Given the description of an element on the screen output the (x, y) to click on. 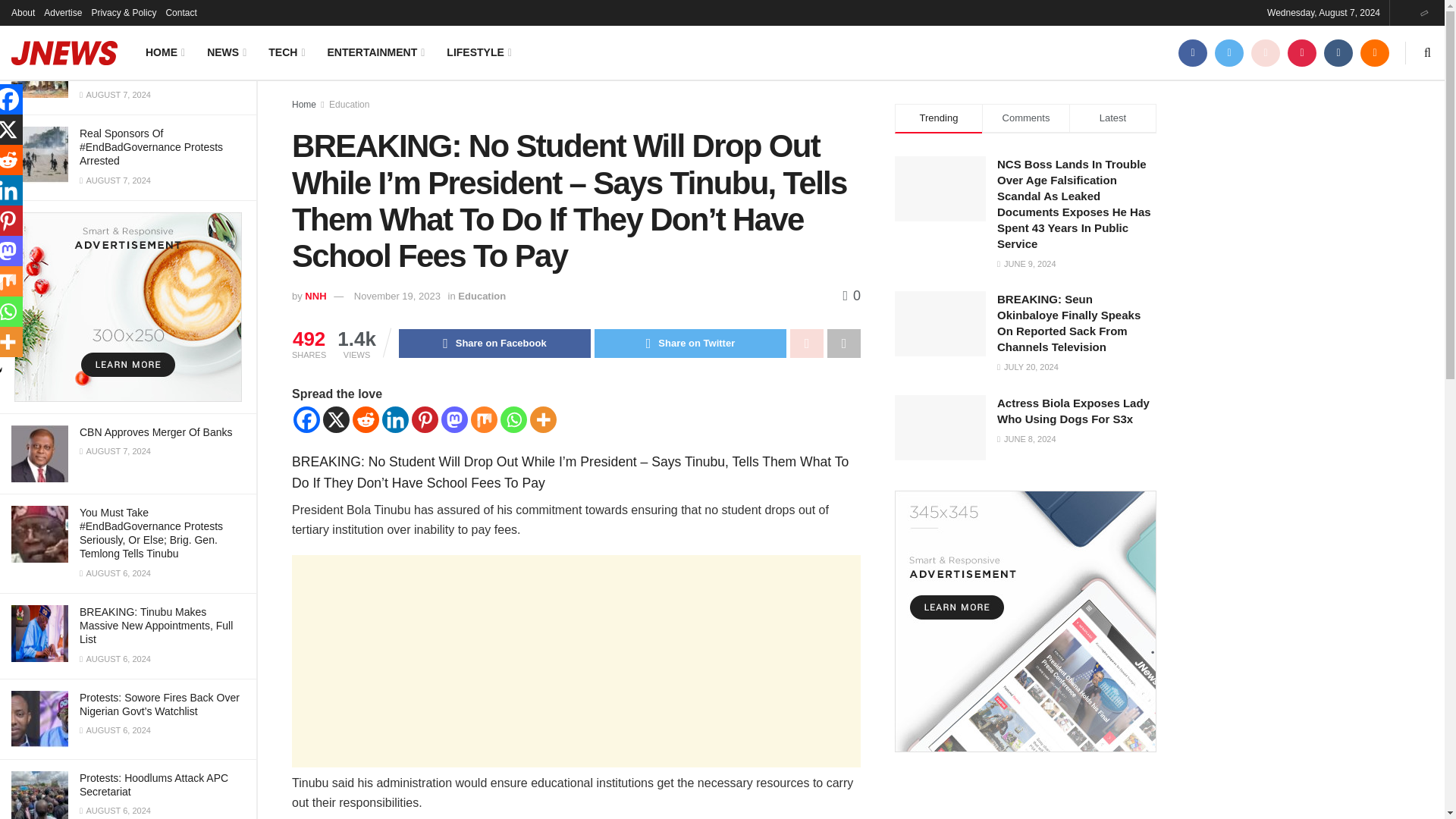
Protests: Hoodlums Attack APC Secretariat (154, 784)
About (22, 12)
Advertisement (576, 661)
Mastodon (454, 419)
Filter (227, 13)
Facebook (307, 419)
Whatsapp (513, 419)
Pinterest (425, 419)
More (542, 419)
CBN Approves Merger Of Banks (156, 431)
